Given the description of an element on the screen output the (x, y) to click on. 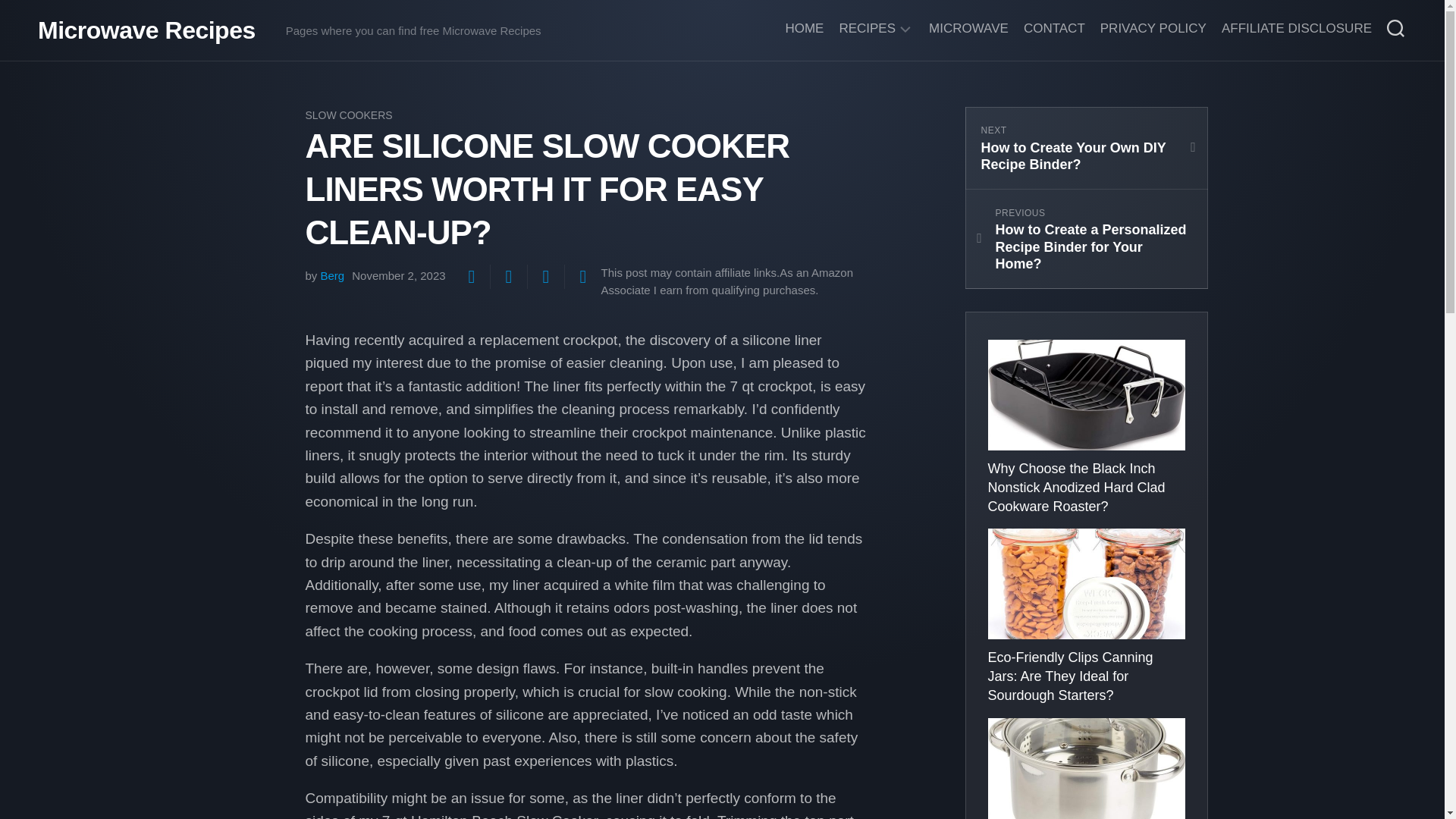
Share on X (470, 276)
Microwave Recipes (146, 30)
HOME (804, 28)
Share on Facebook (1085, 148)
MICROWAVE (508, 276)
PRIVACY POLICY (968, 28)
Berg (1153, 28)
CONTACT (332, 275)
